Given the description of an element on the screen output the (x, y) to click on. 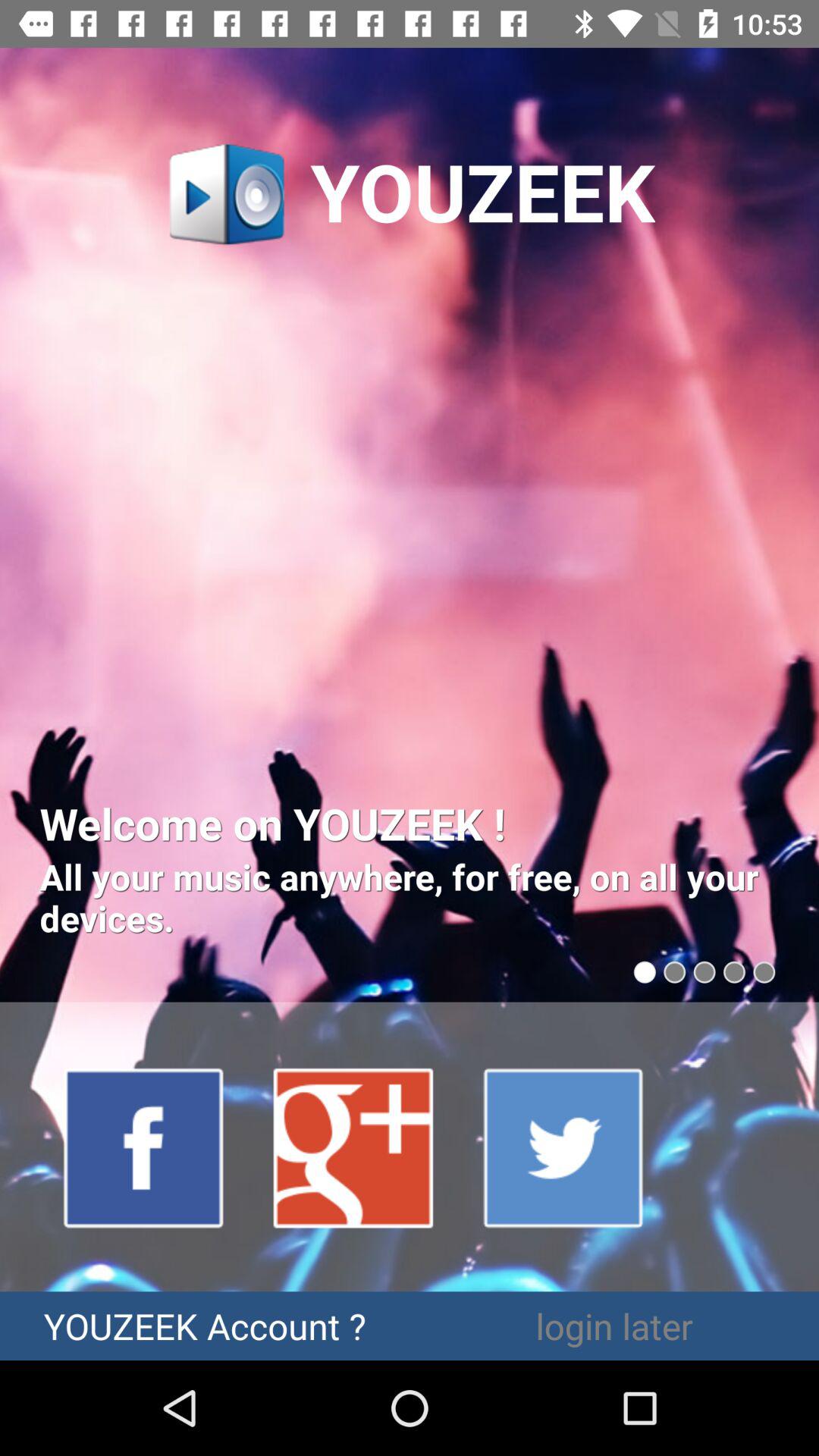
go to twitter (564, 1146)
